Given the description of an element on the screen output the (x, y) to click on. 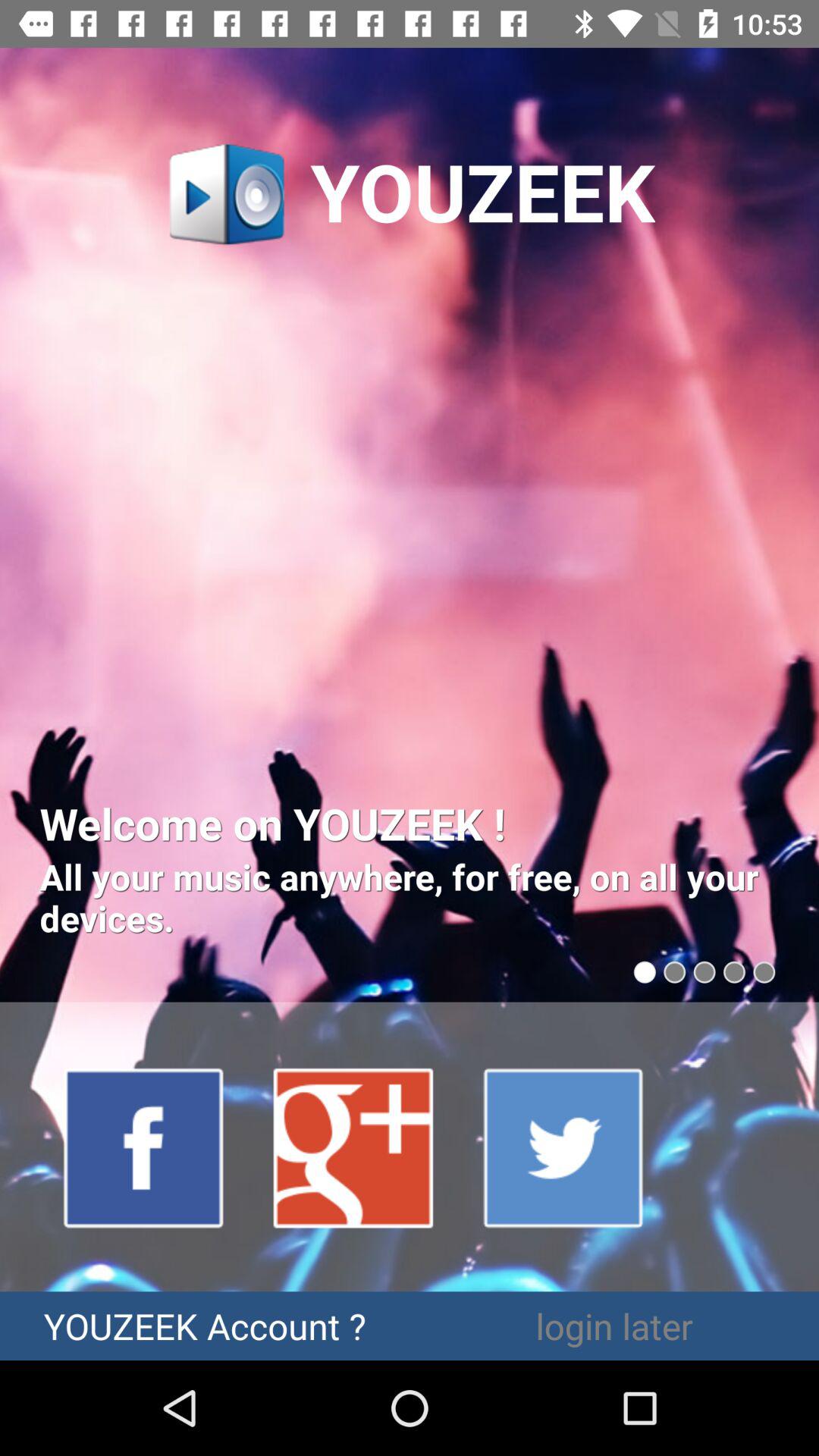
go to twitter (564, 1146)
